Given the description of an element on the screen output the (x, y) to click on. 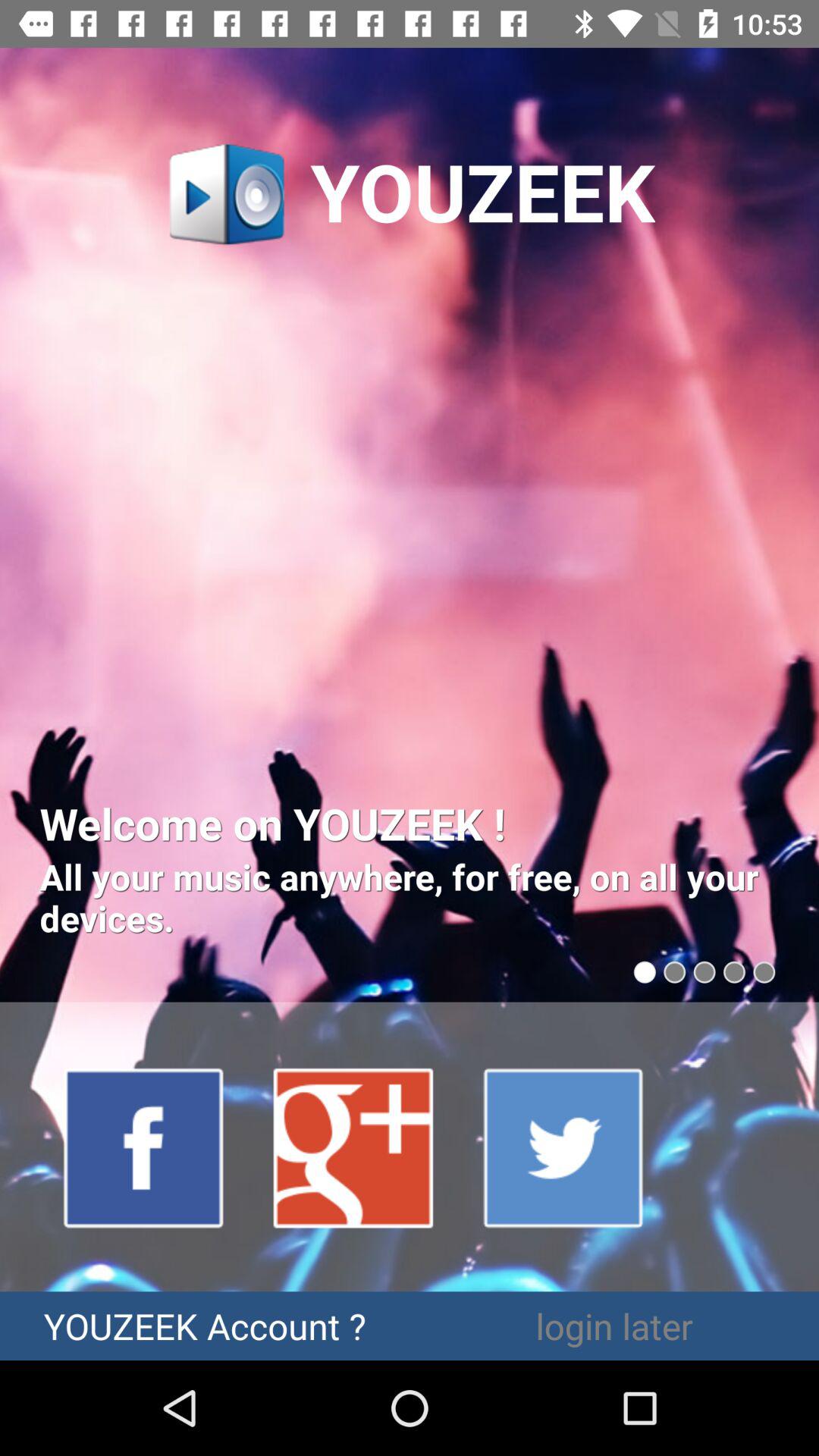
go to twitter (564, 1146)
